Given the description of an element on the screen output the (x, y) to click on. 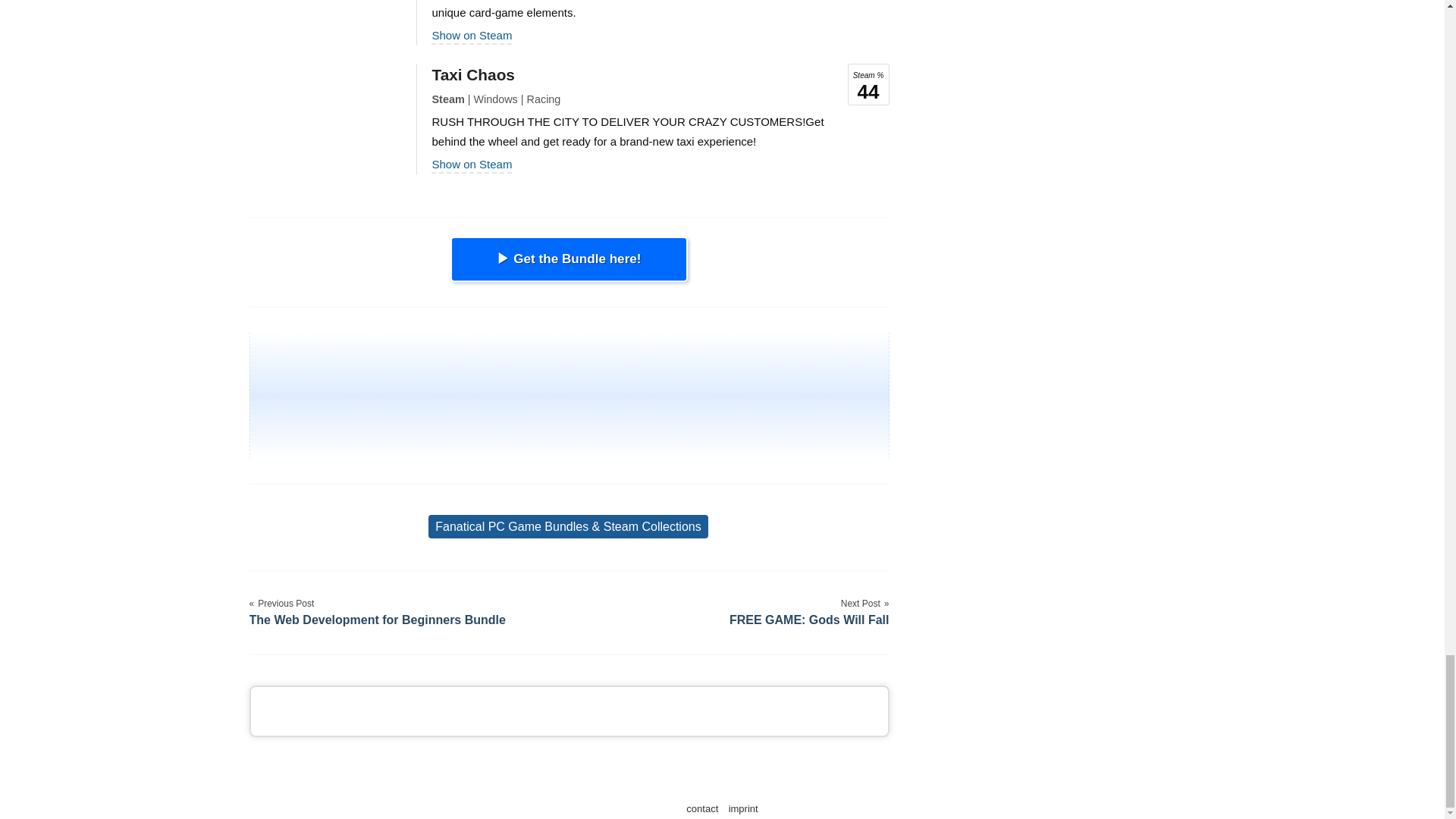
Buy Platinum Bundle - January 2022 from Fanatical here. (568, 258)
